Given the description of an element on the screen output the (x, y) to click on. 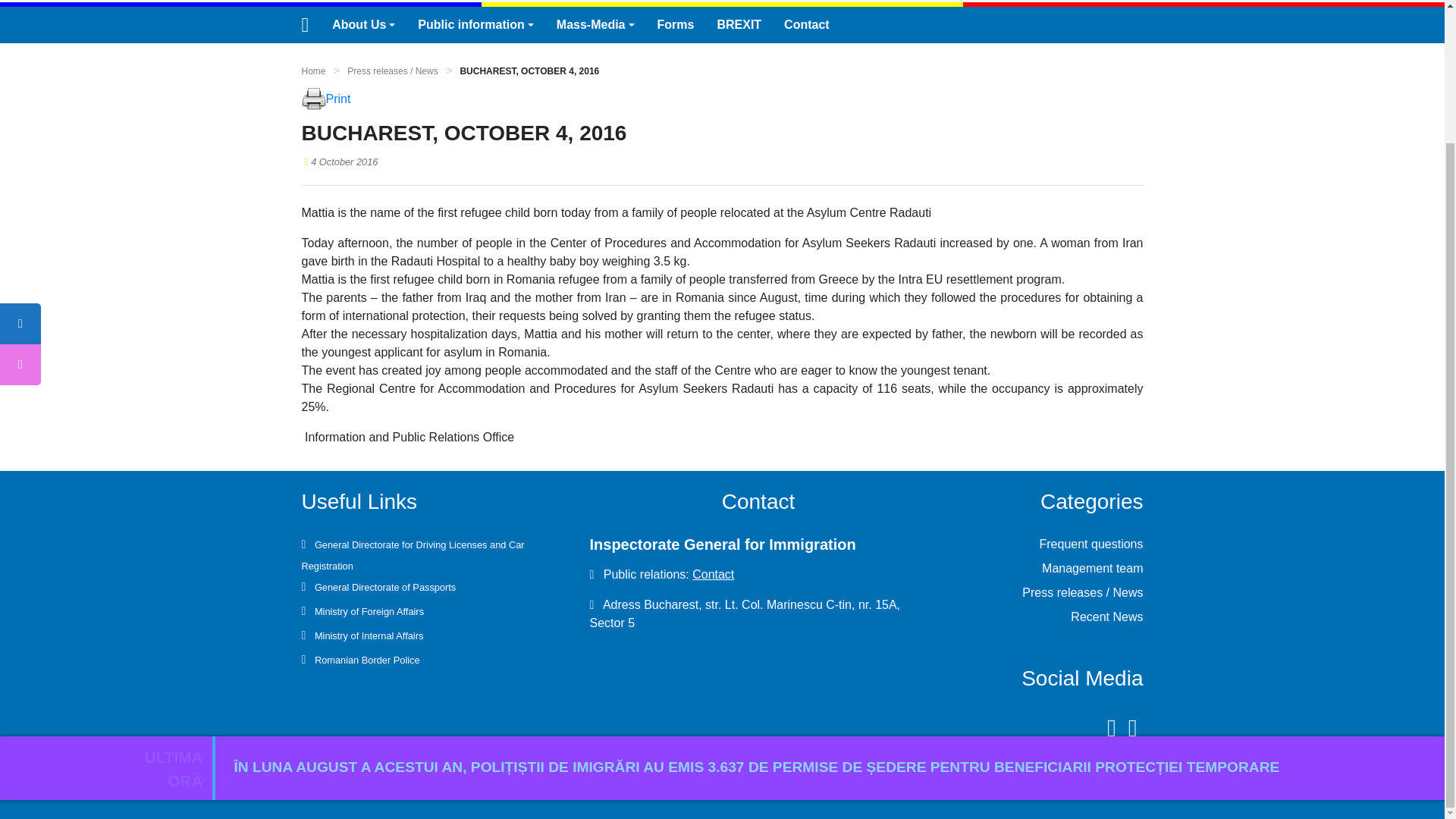
Frequent questions (1090, 543)
BREXIT (738, 24)
Contact (807, 24)
Home (313, 71)
Home (313, 71)
Public information (475, 24)
BUCHAREST, OCTOBER 4, 2016 (529, 71)
Contact (713, 574)
Romanian Border Police (365, 659)
Ministry of Internal Affairs (367, 635)
